Given the description of an element on the screen output the (x, y) to click on. 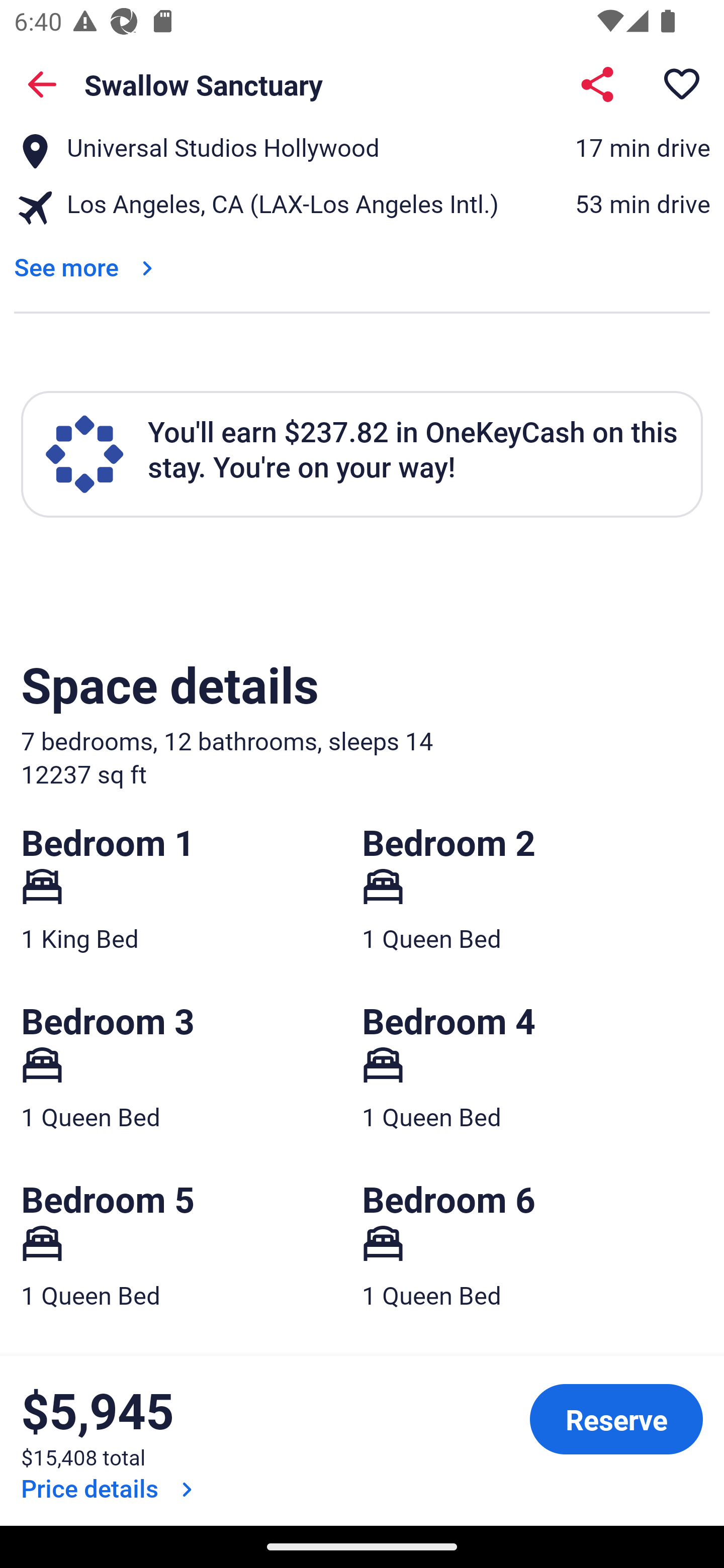
Back (42, 84)
Save property to a trip (681, 84)
Share Swallow Sanctuary (597, 84)
See more (86, 266)
